Given the description of an element on the screen output the (x, y) to click on. 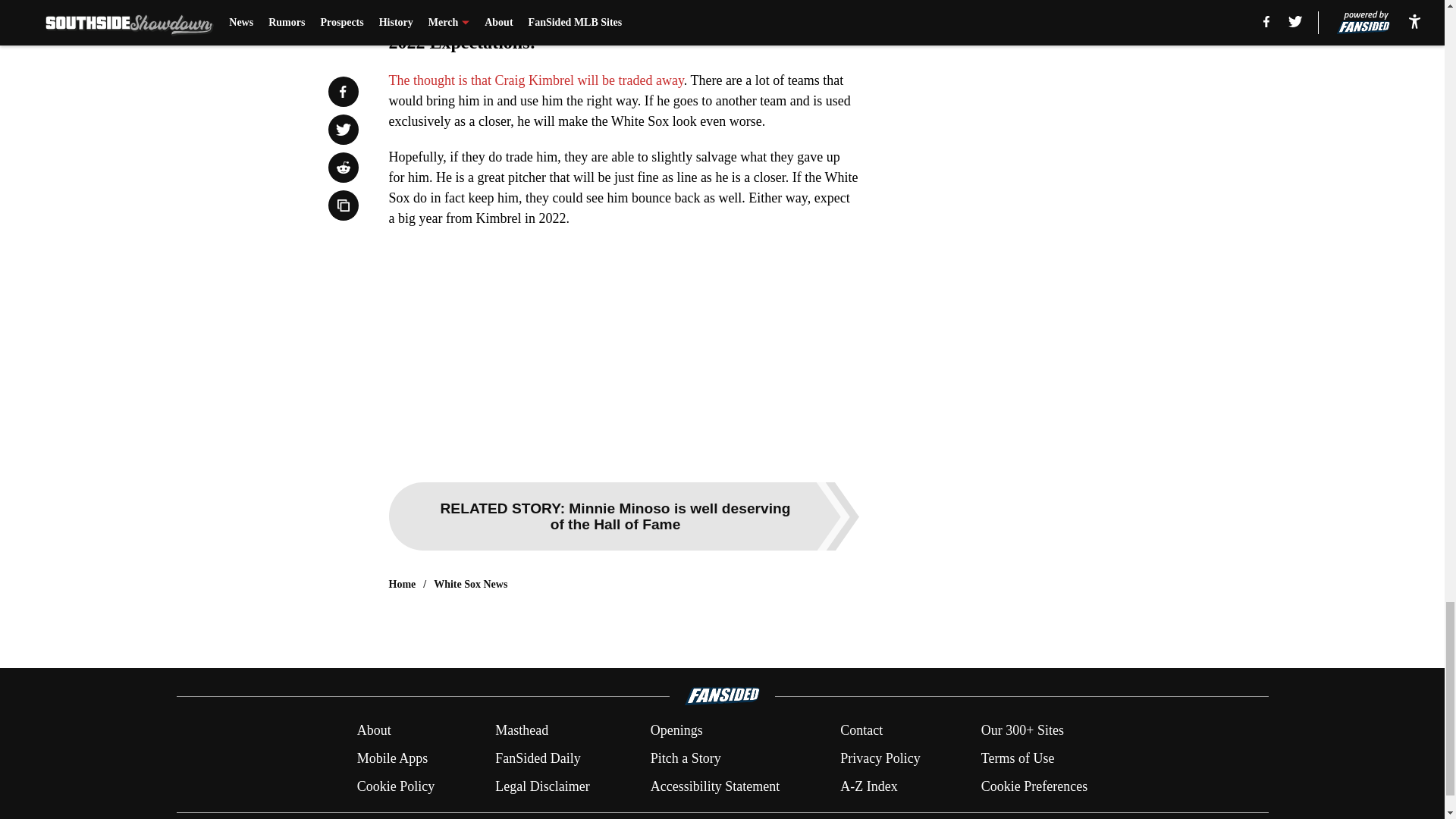
About (373, 730)
Terms of Use (1017, 758)
Contact (861, 730)
White Sox News (469, 584)
Pitch a Story (685, 758)
FanSided Daily (537, 758)
The thought is that Craig Kimbrel will be traded away (535, 79)
Masthead (521, 730)
Privacy Policy (880, 758)
Home (401, 584)
Legal Disclaimer (542, 786)
Mobile Apps (392, 758)
Openings (676, 730)
Cookie Policy (395, 786)
